Given the description of an element on the screen output the (x, y) to click on. 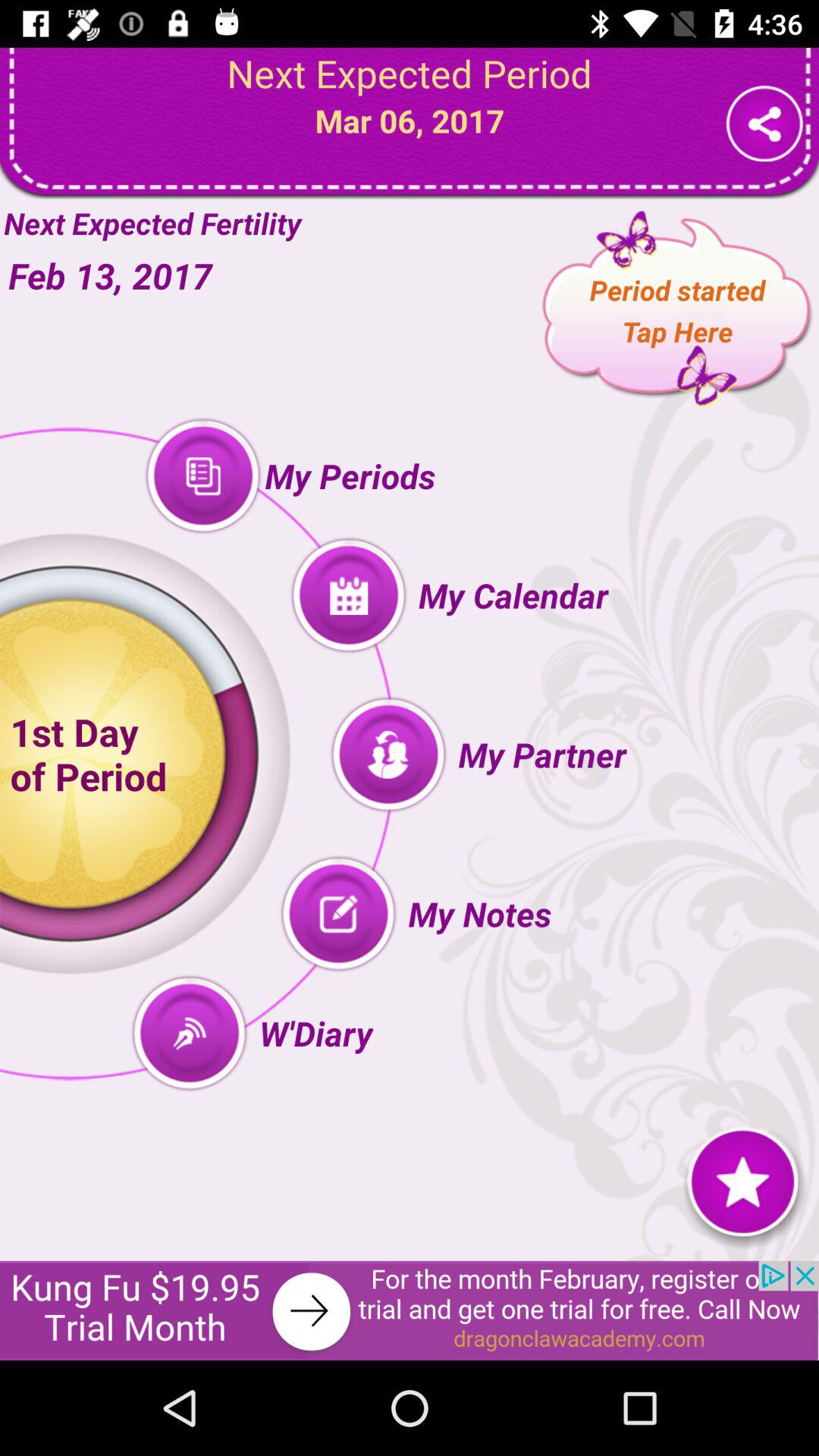
click on the star button (742, 1180)
click on the share button (764, 122)
select the icon star button (743, 1180)
click on the button beside my notes (338, 914)
click on the button beside my periods (202, 475)
